Given the description of an element on the screen output the (x, y) to click on. 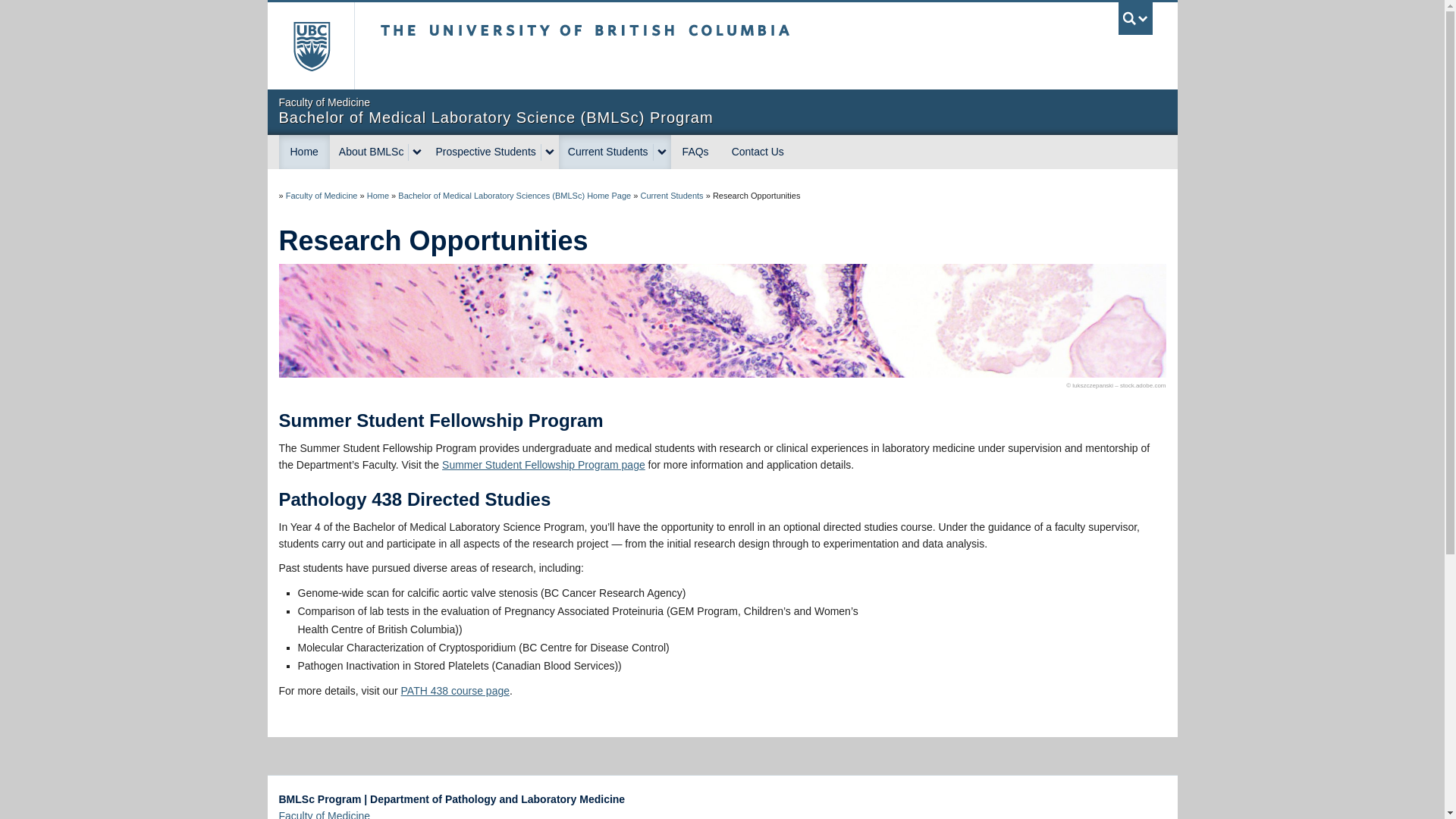
About BMLSc (369, 151)
UBC Search (1135, 18)
Current Students (606, 151)
The University of British Columbia (635, 45)
Faculty of Medicine (321, 194)
Home (377, 194)
Home (304, 151)
Prospective Students (483, 151)
Contact Us (757, 151)
FAQs (695, 151)
Current Students (671, 194)
BMLSc (304, 151)
Current Students (671, 194)
The University of British Columbia (309, 45)
BMLSc - Medical Laboratory Science (377, 194)
